Given the description of an element on the screen output the (x, y) to click on. 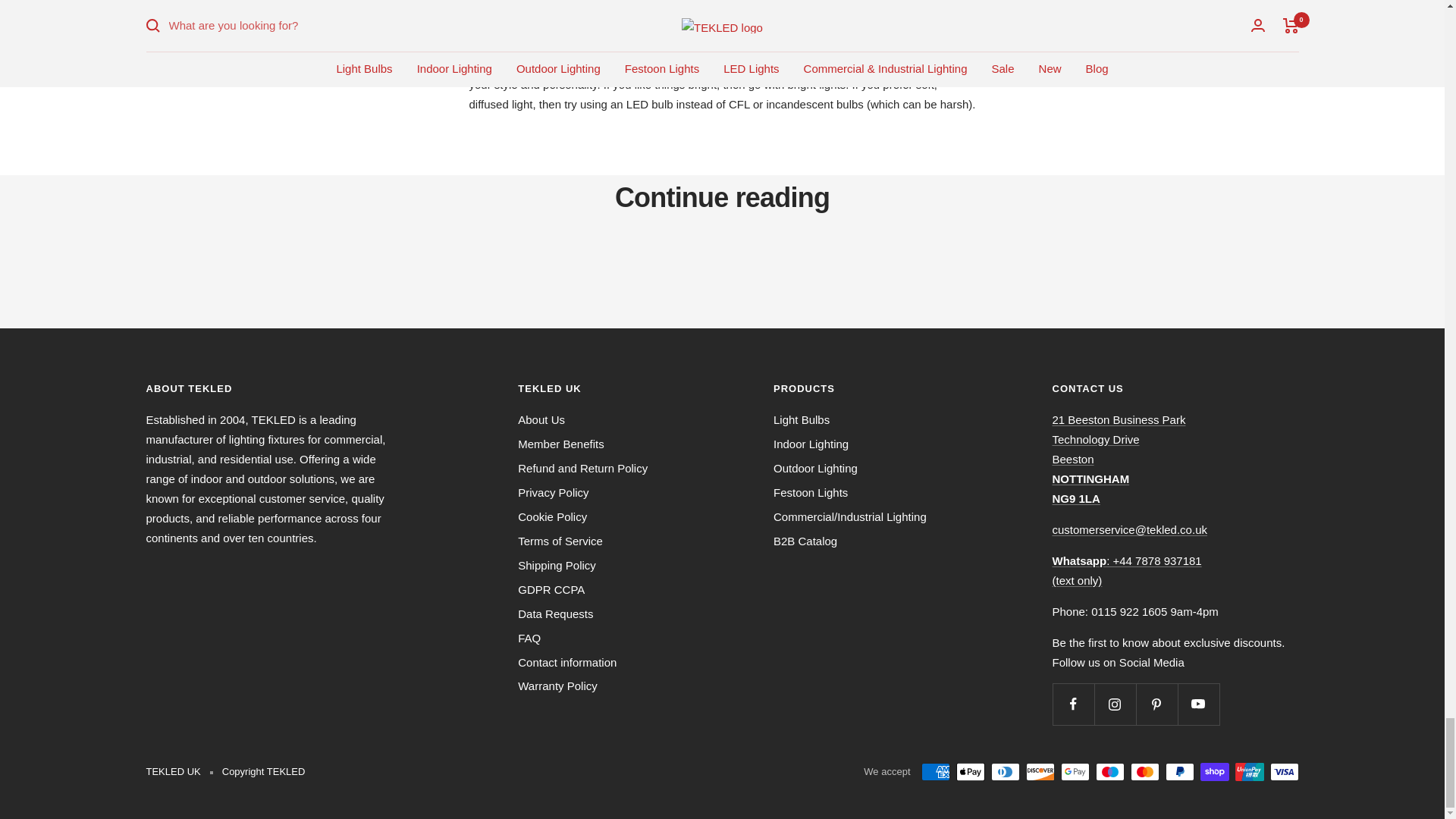
TEKLED WhatsApp (1127, 570)
TEKLED UK LTD (1119, 459)
